Given the description of an element on the screen output the (x, y) to click on. 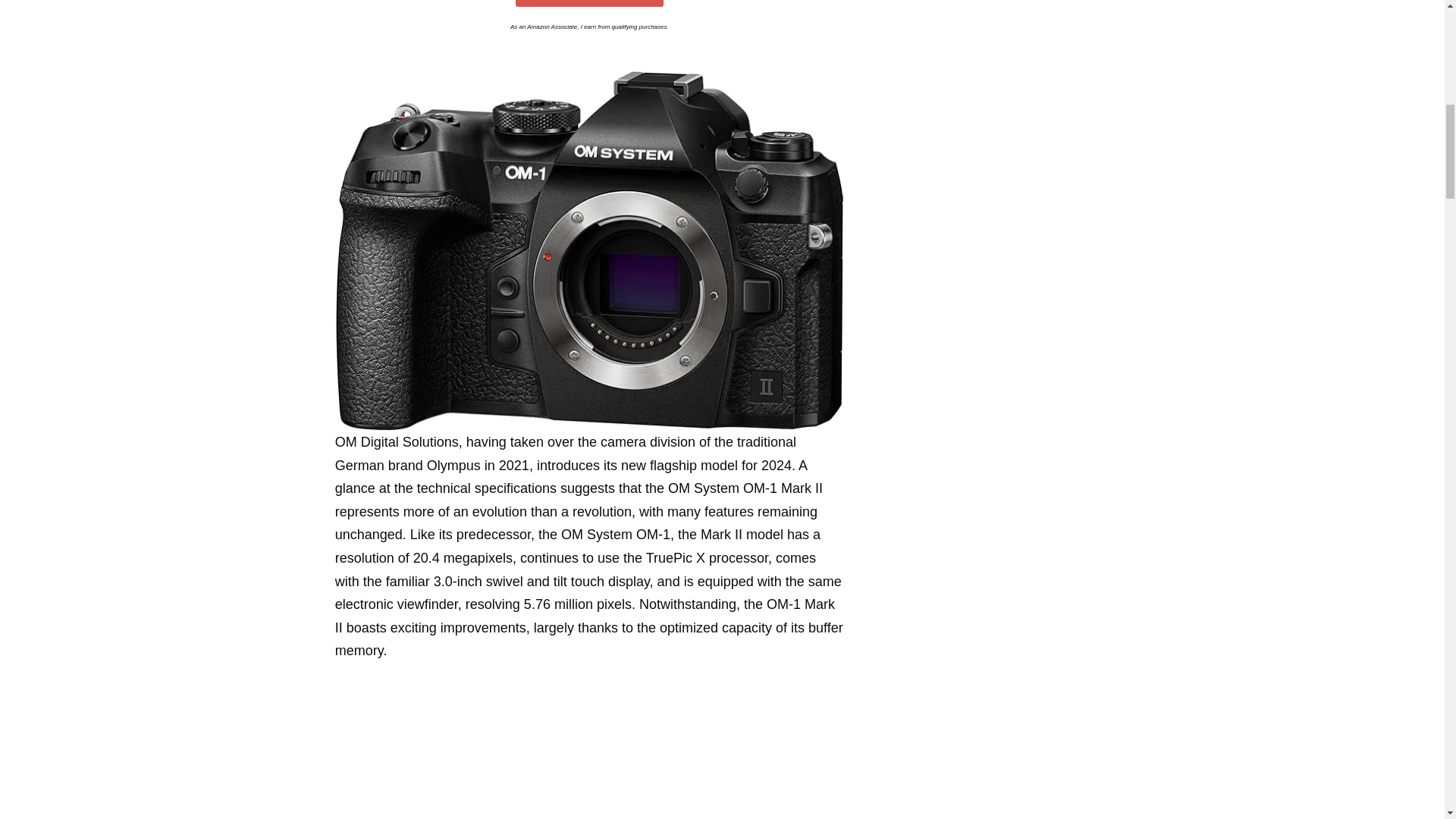
OM-1 Mark II: Next-Gen Mirrorless Camera 2 (589, 752)
